Given the description of an element on the screen output the (x, y) to click on. 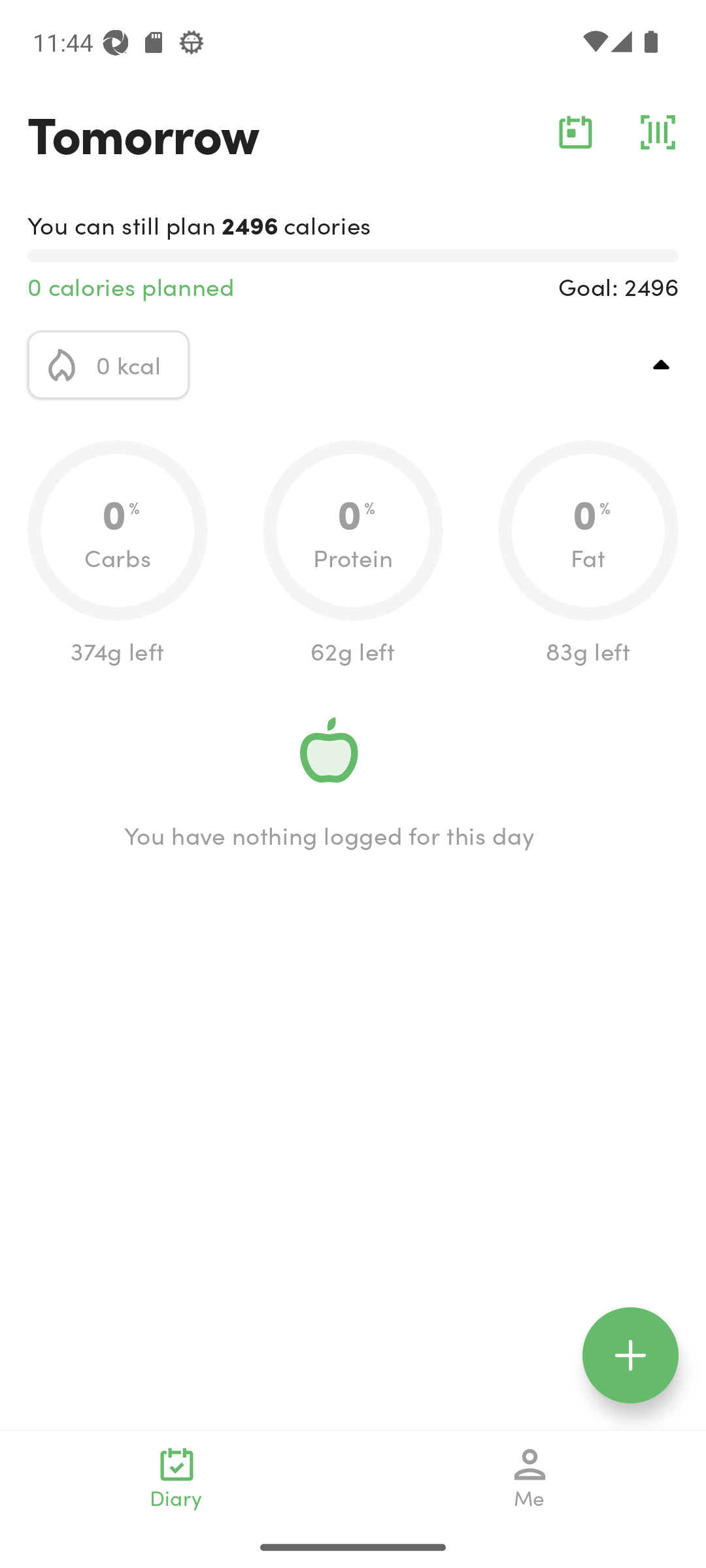
calendar_action (575, 132)
barcode_action (658, 132)
calorie_icon 0 kcal (108, 365)
top_right_action (661, 365)
0.0 0 % Carbs 374g left (117, 553)
0.0 0 % Protein 62g left (352, 553)
0.0 0 % Fat 83g left (588, 553)
floating_action_icon (630, 1355)
Me navigation_icon (529, 1478)
